Given the description of an element on the screen output the (x, y) to click on. 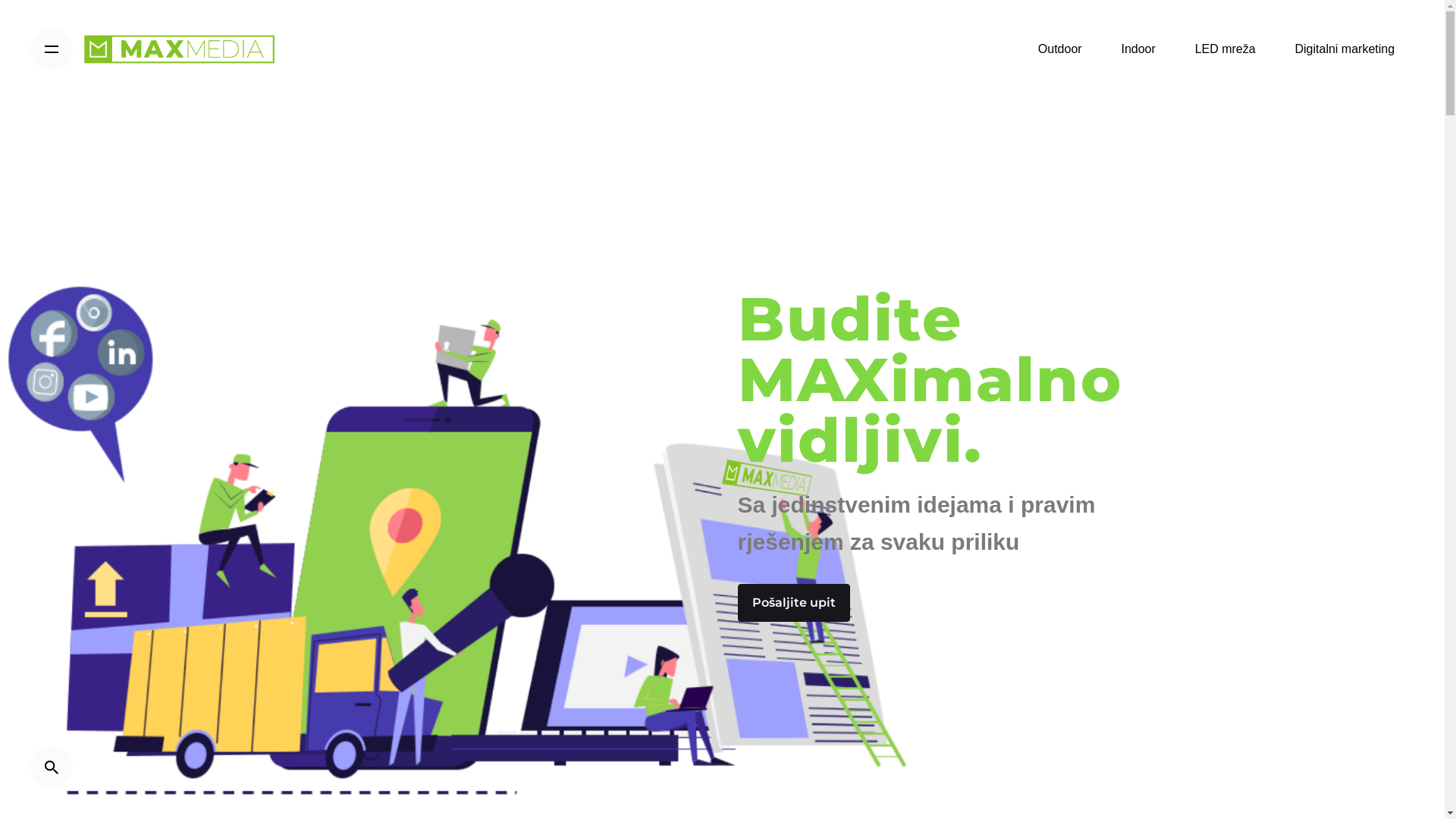
Outdoor Element type: text (1059, 49)
Digitalni marketing Element type: text (1344, 49)
Indoor Element type: text (1138, 49)
